Given the description of an element on the screen output the (x, y) to click on. 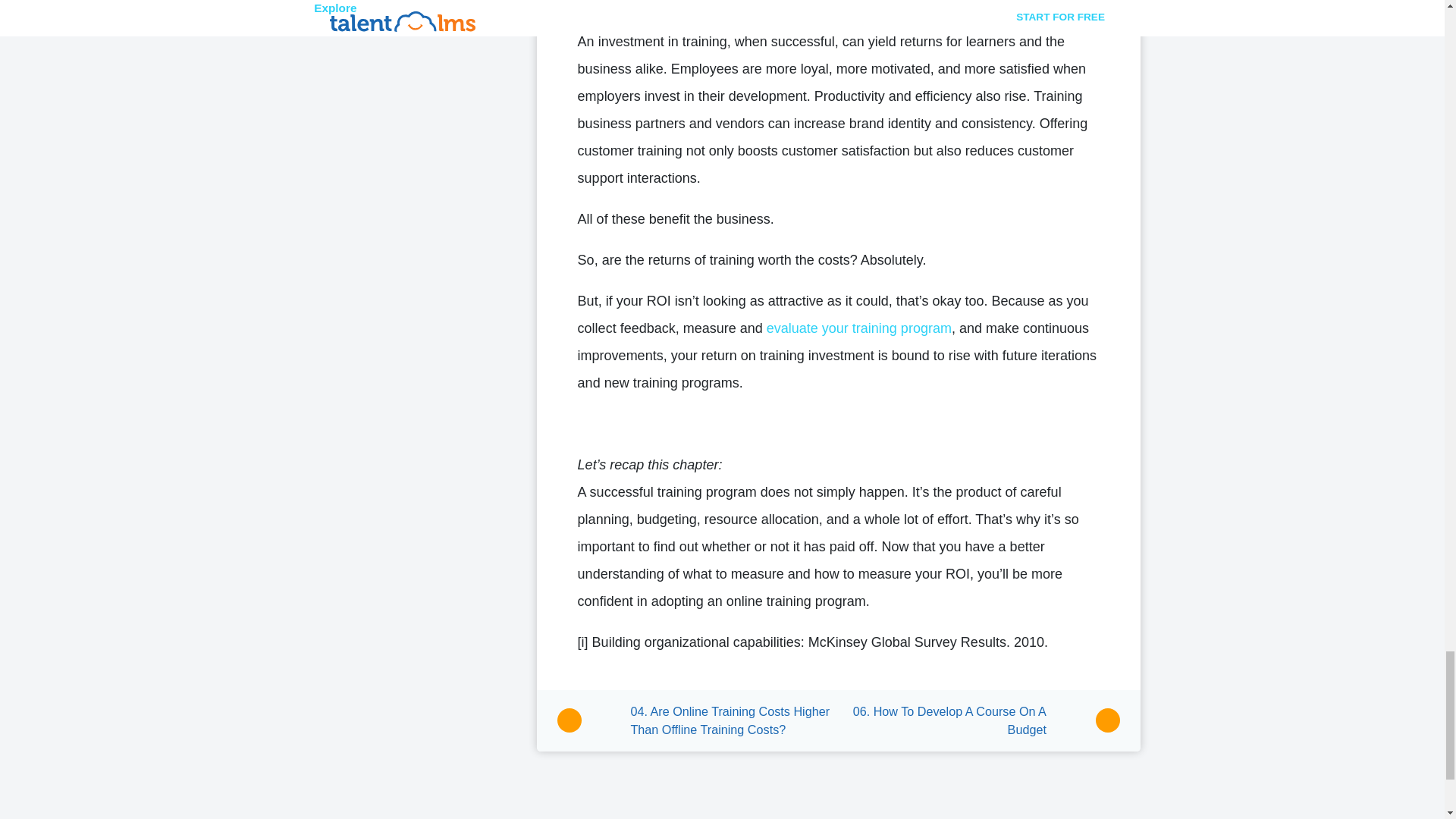
How To Develop A Course On A Budget (978, 720)
06. How To Develop A Course On A Budget (978, 720)
evaluate your training program (859, 328)
